Given the description of an element on the screen output the (x, y) to click on. 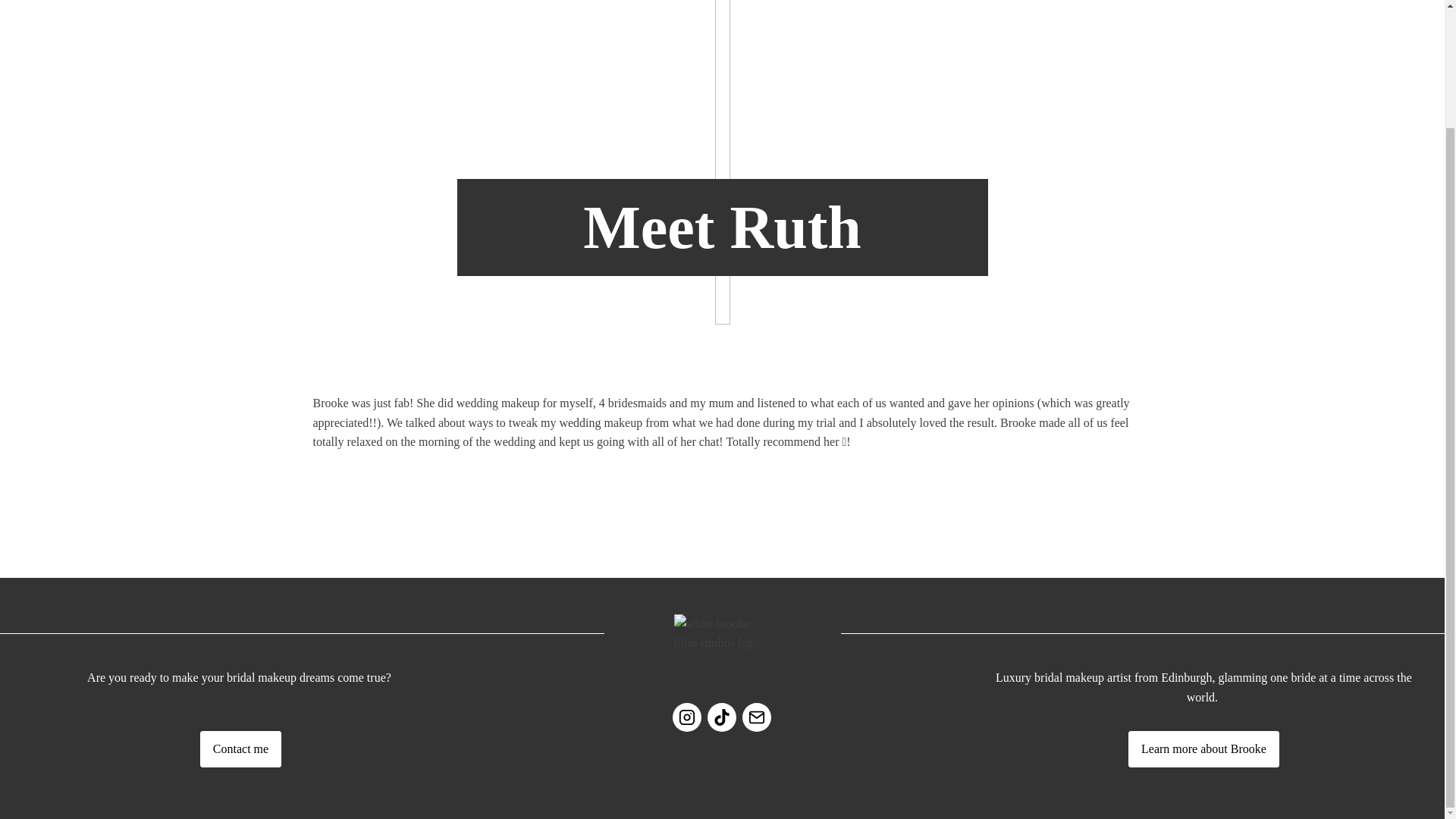
Contact me (240, 749)
Learn more about Brooke (1203, 749)
